Given the description of an element on the screen output the (x, y) to click on. 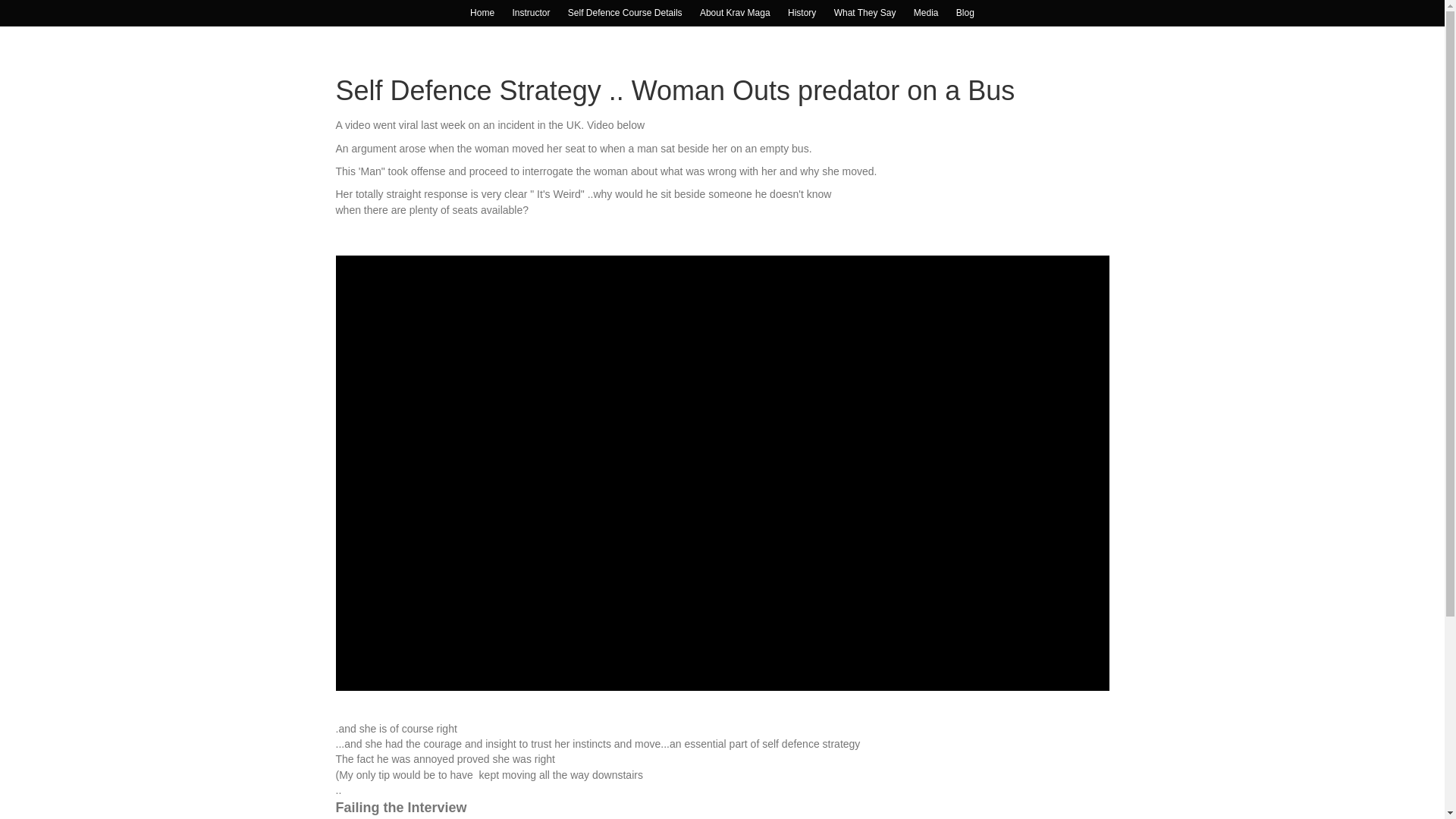
Home (482, 13)
What They Say (865, 13)
Media (925, 13)
Self Defence Course Details (625, 13)
Blog (965, 13)
About Krav Maga (735, 13)
Instructor (530, 13)
History (802, 13)
